Given the description of an element on the screen output the (x, y) to click on. 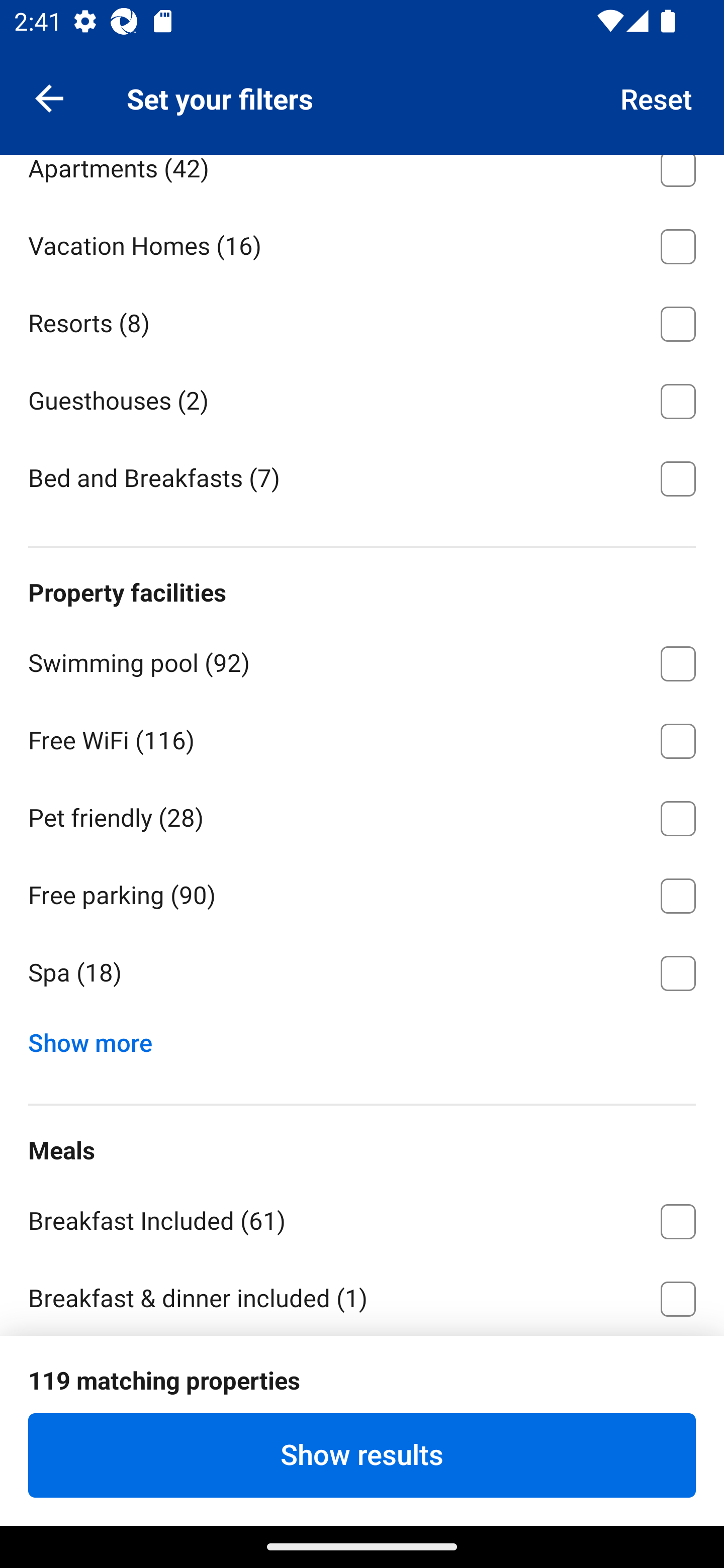
Navigate up (49, 97)
Hotels ⁦(77) (361, 88)
Reset (656, 97)
Apartments ⁦(42) (361, 179)
Vacation Homes ⁦(16) (361, 242)
Resorts ⁦(8) (361, 320)
Guesthouses ⁦(2) (361, 398)
Bed and Breakfasts ⁦(7) (361, 477)
Swimming pool ⁦(92) (361, 659)
Free WiFi ⁦(116) (361, 737)
Pet friendly ⁦(28) (361, 815)
Free parking ⁦(90) (361, 892)
Spa ⁦(18) (361, 973)
Show more (97, 1038)
Breakfast Included ⁦(61) (361, 1218)
Breakfast & dinner included ⁦(1) (361, 1295)
Kitchen facilities ⁦(95) (361, 1334)
Breakfast & lunch included ⁦(1) (361, 1451)
